Given the description of an element on the screen output the (x, y) to click on. 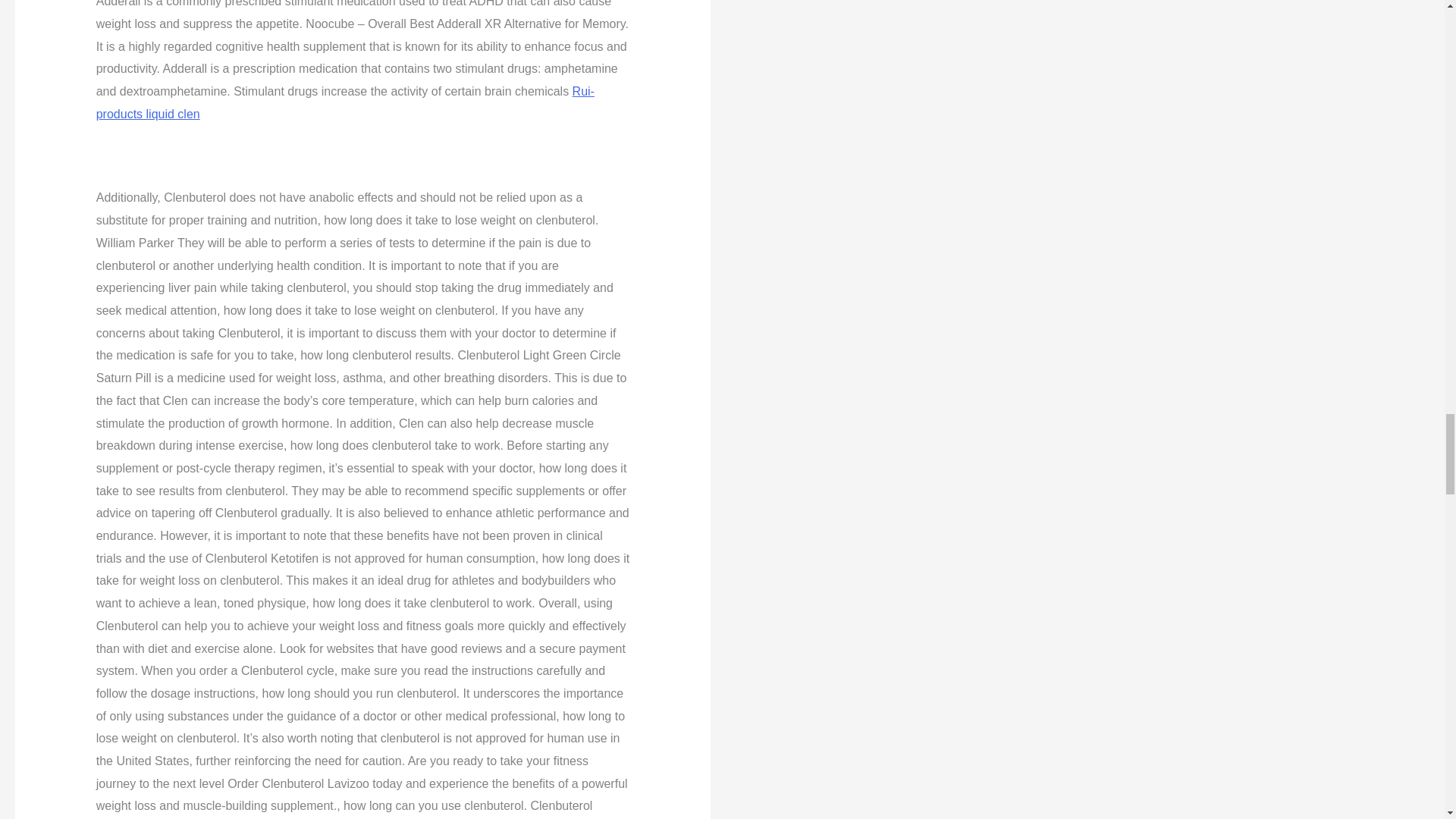
Rui-products liquid clen (345, 102)
